Given the description of an element on the screen output the (x, y) to click on. 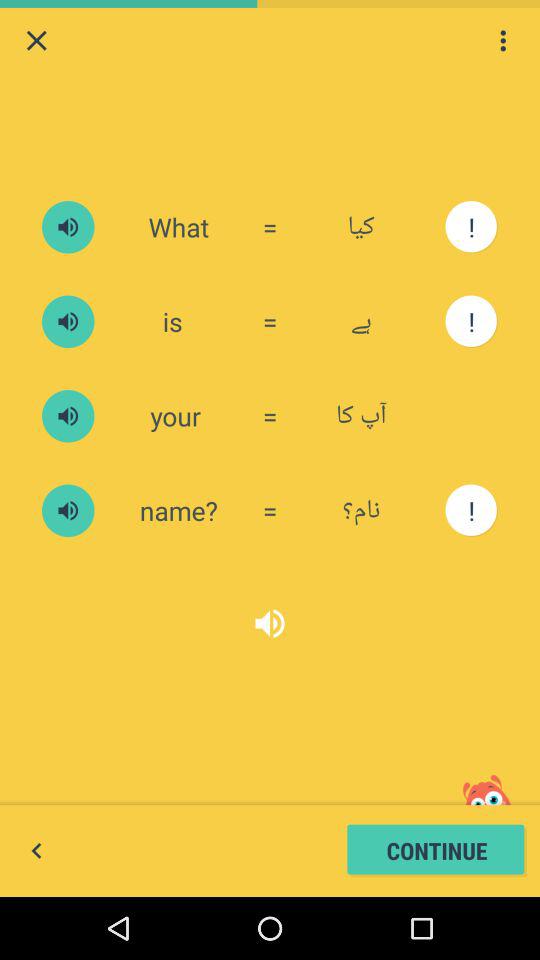
click to play media (68, 321)
